Given the description of an element on the screen output the (x, y) to click on. 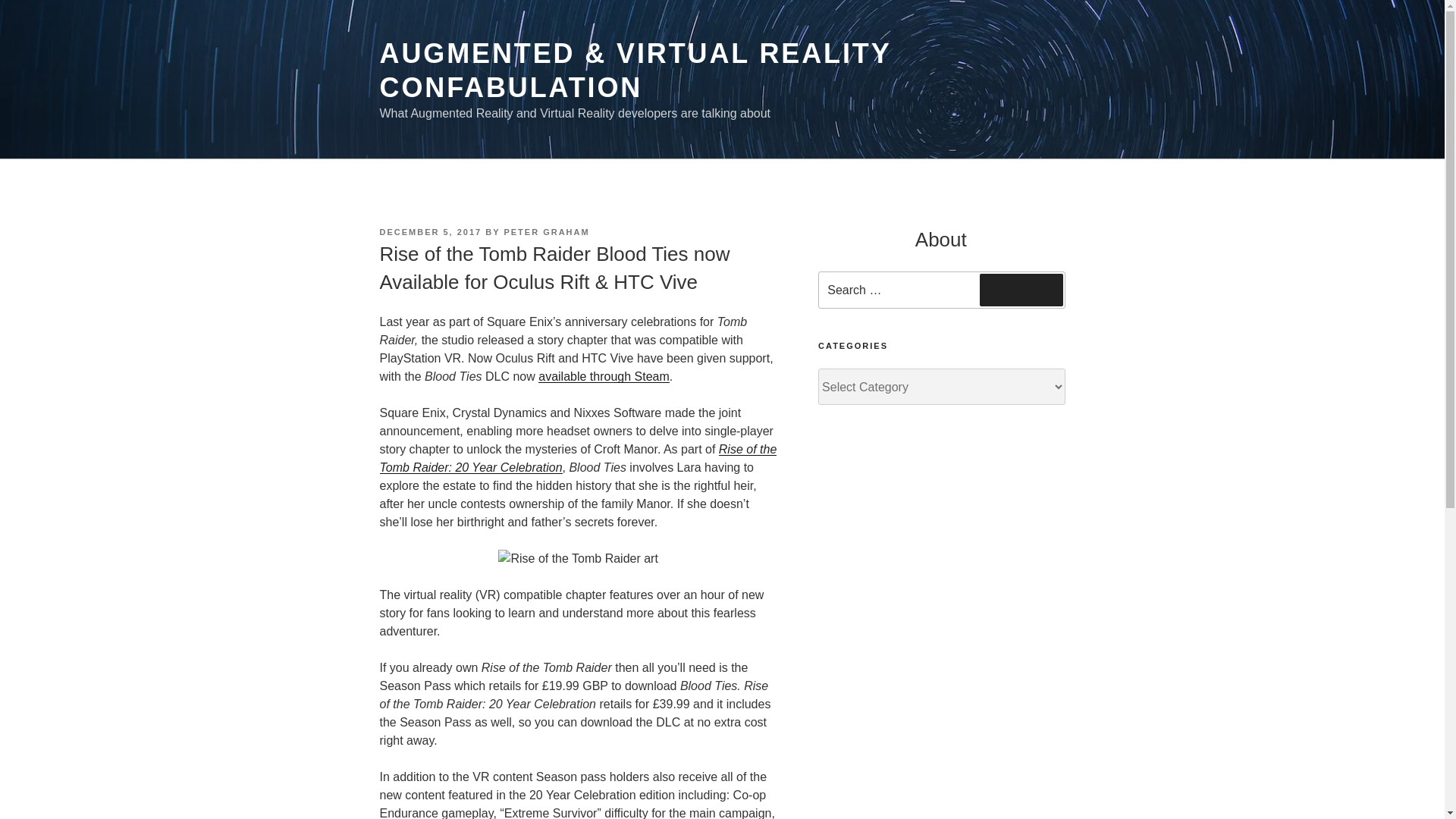
About (940, 239)
available through Steam (603, 376)
Rise of the Tomb Raider: 20 Year Celebration (577, 458)
Search (1020, 289)
DECEMBER 5, 2017 (429, 231)
PETER GRAHAM (546, 231)
